Given the description of an element on the screen output the (x, y) to click on. 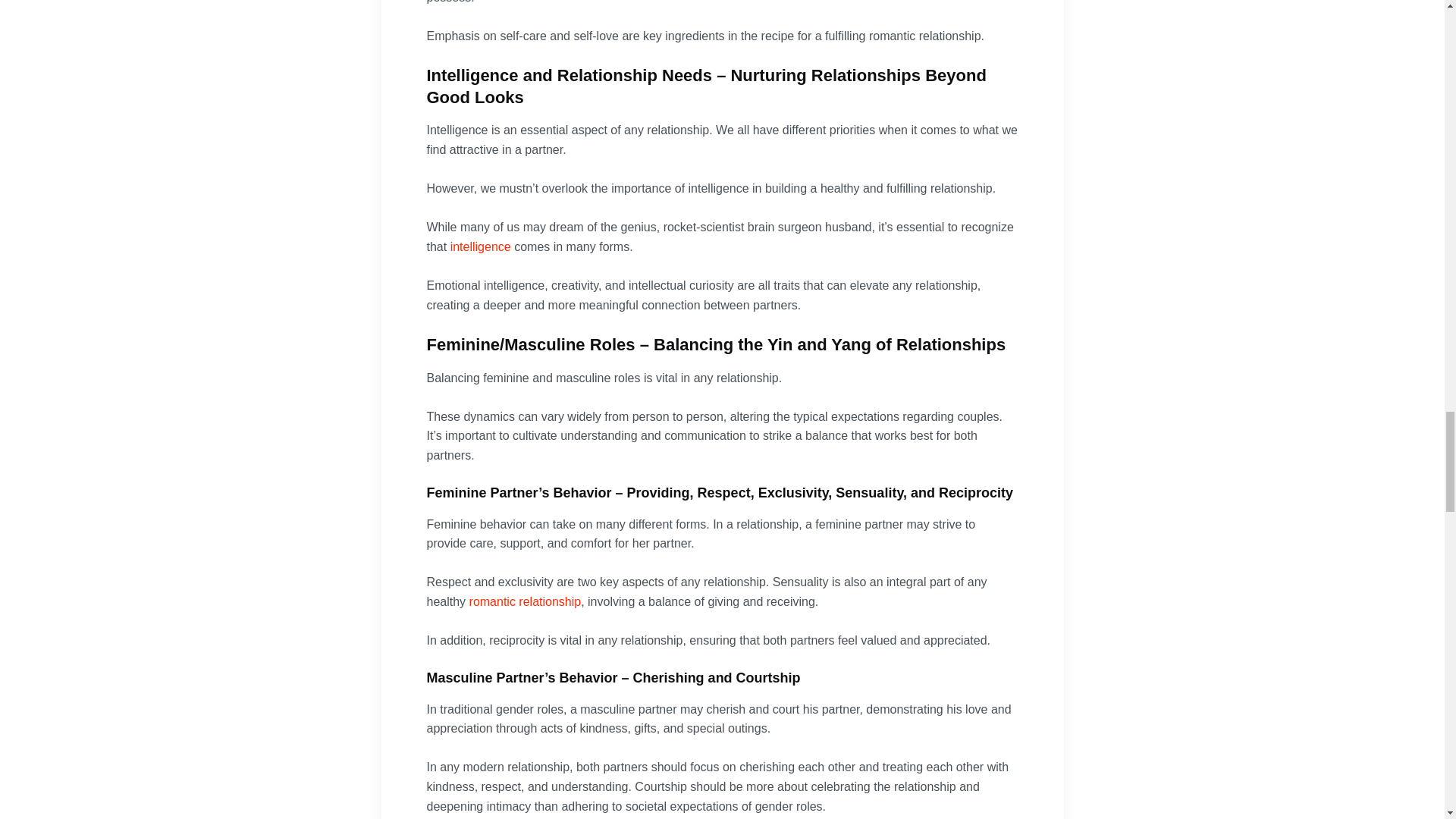
intelligence (480, 246)
romantic relationship (524, 601)
